Given the description of an element on the screen output the (x, y) to click on. 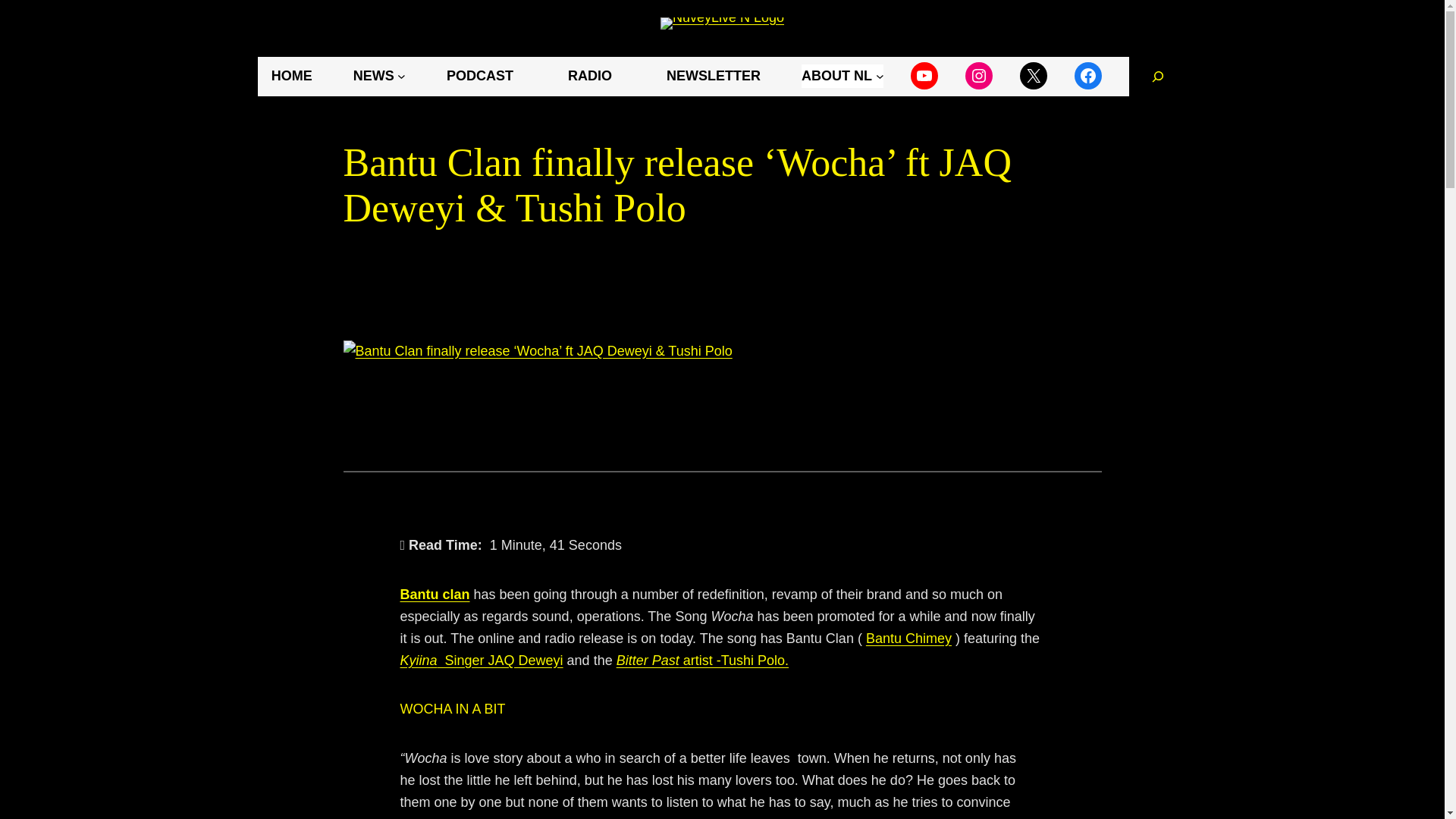
Bitter Past artist -Tushi Polo. (702, 660)
NEWSLETTER (713, 76)
Bantu clan (435, 594)
HOME (291, 76)
X (1033, 75)
Instagram (978, 75)
Bantu Chimey (909, 638)
Kyiina  Singer JAQ Deweyi (481, 660)
Facebook (1088, 75)
ABOUT NL (842, 75)
